Given the description of an element on the screen output the (x, y) to click on. 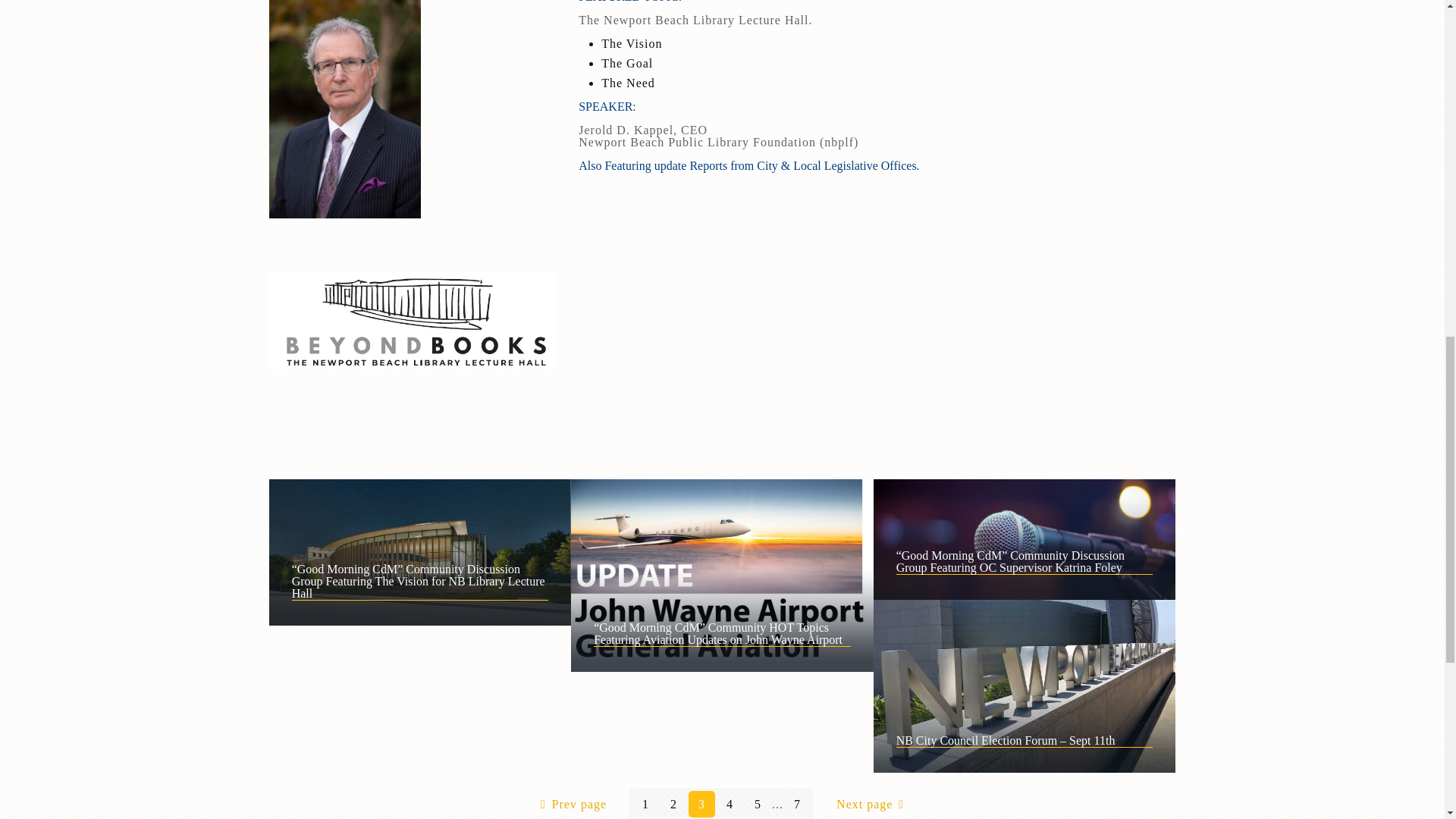
2 (674, 804)
3 (701, 804)
Prev page (570, 803)
1 (645, 804)
